Given the description of an element on the screen output the (x, y) to click on. 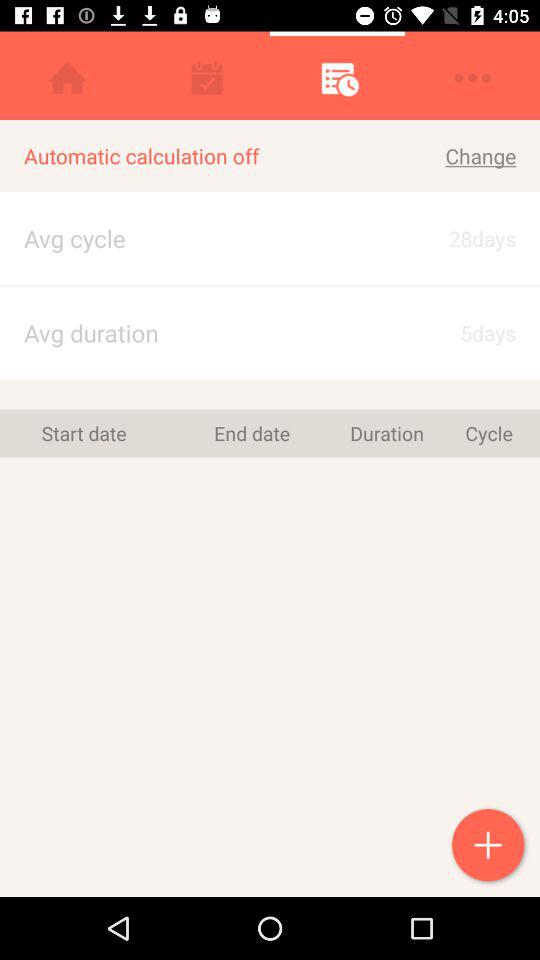
turn off icon to the right of the automatic calculation off icon (463, 238)
